Given the description of an element on the screen output the (x, y) to click on. 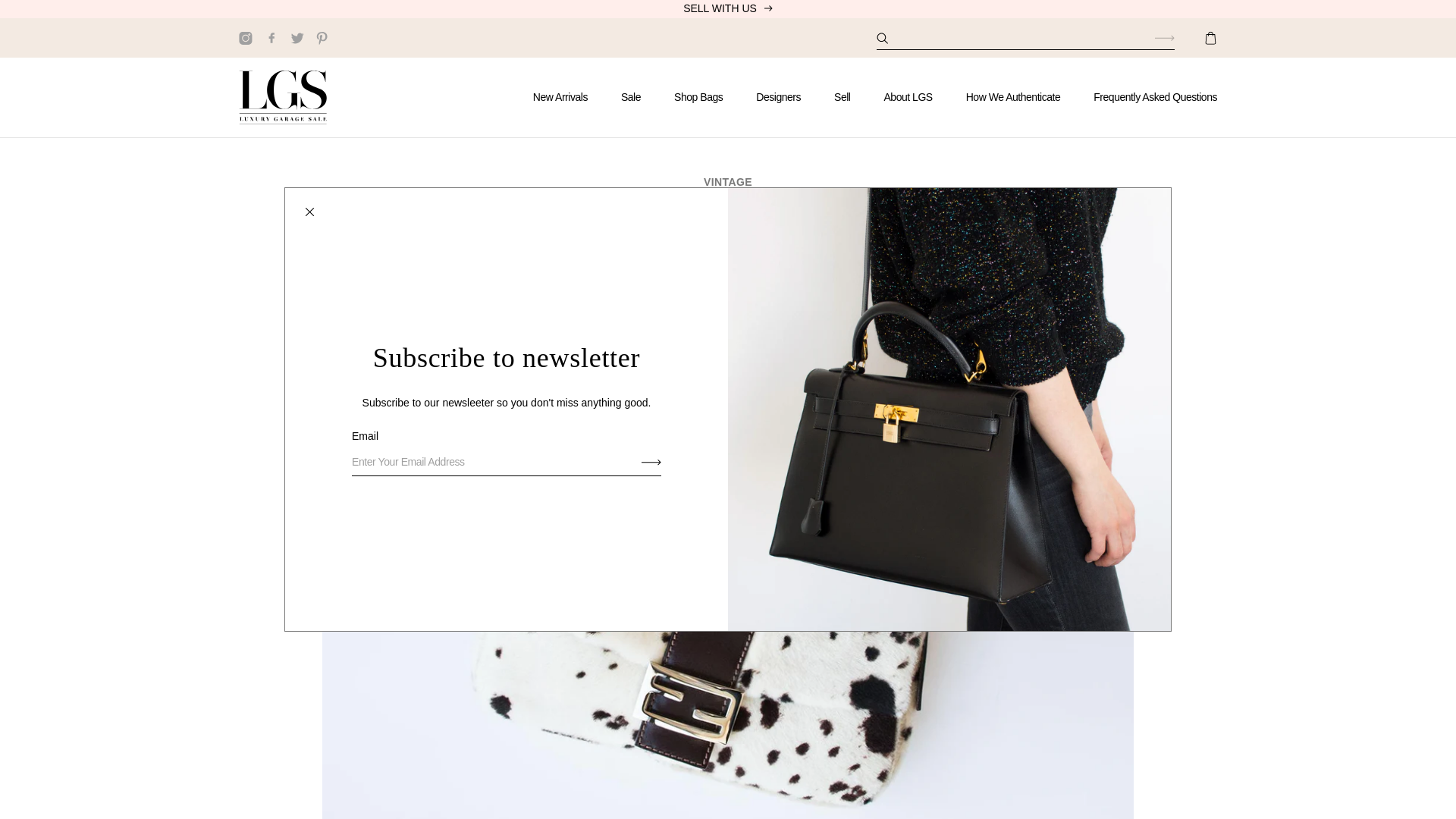
SKIP TO CONTENT (71, 18)
New Arrivals (568, 97)
Cart (1206, 37)
Cart (1206, 37)
SELL WITH US (727, 9)
Luxury Garage Sale (282, 96)
Subscribe (651, 461)
